Given the description of an element on the screen output the (x, y) to click on. 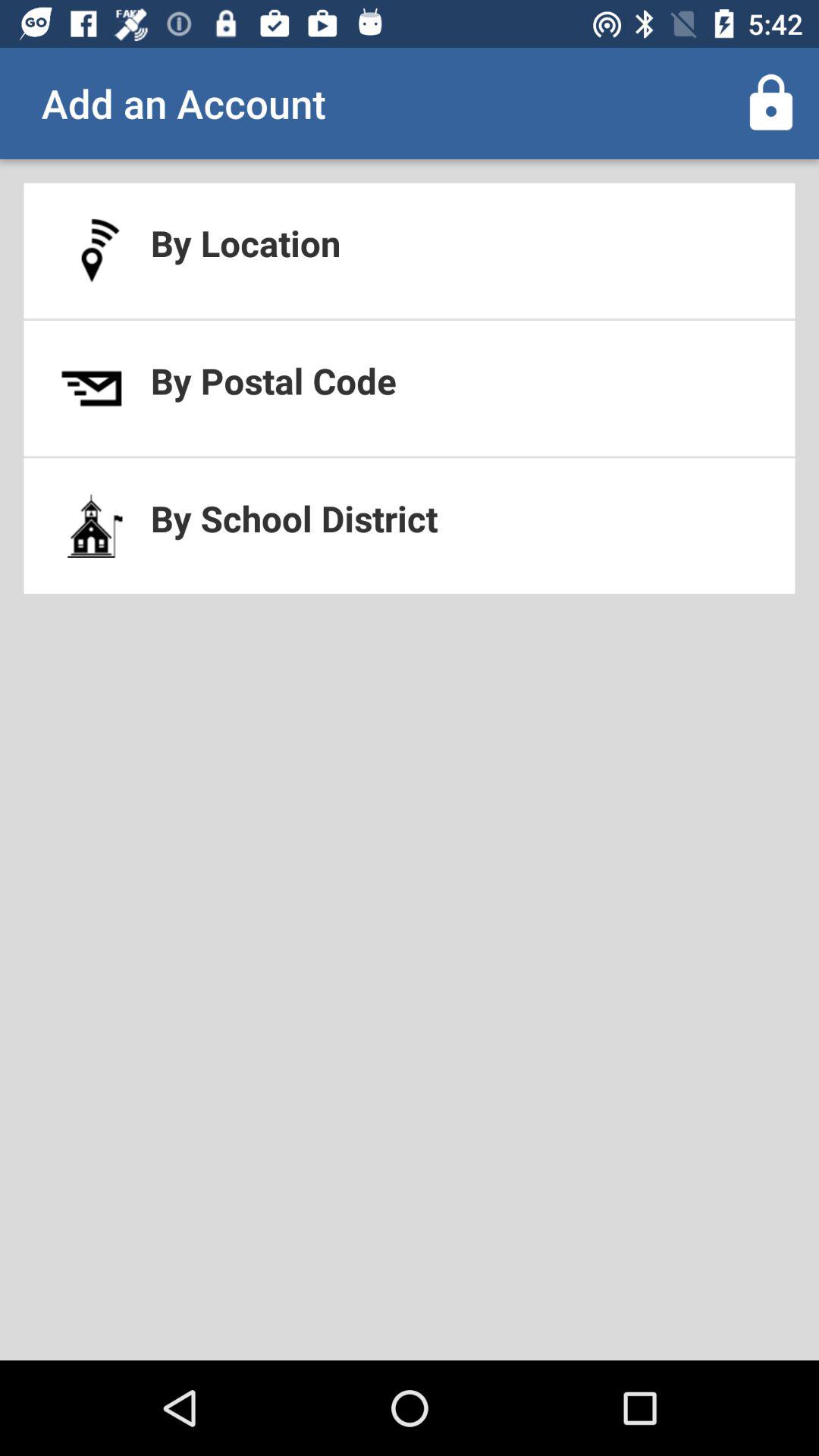
scroll until by postal code icon (409, 388)
